Given the description of an element on the screen output the (x, y) to click on. 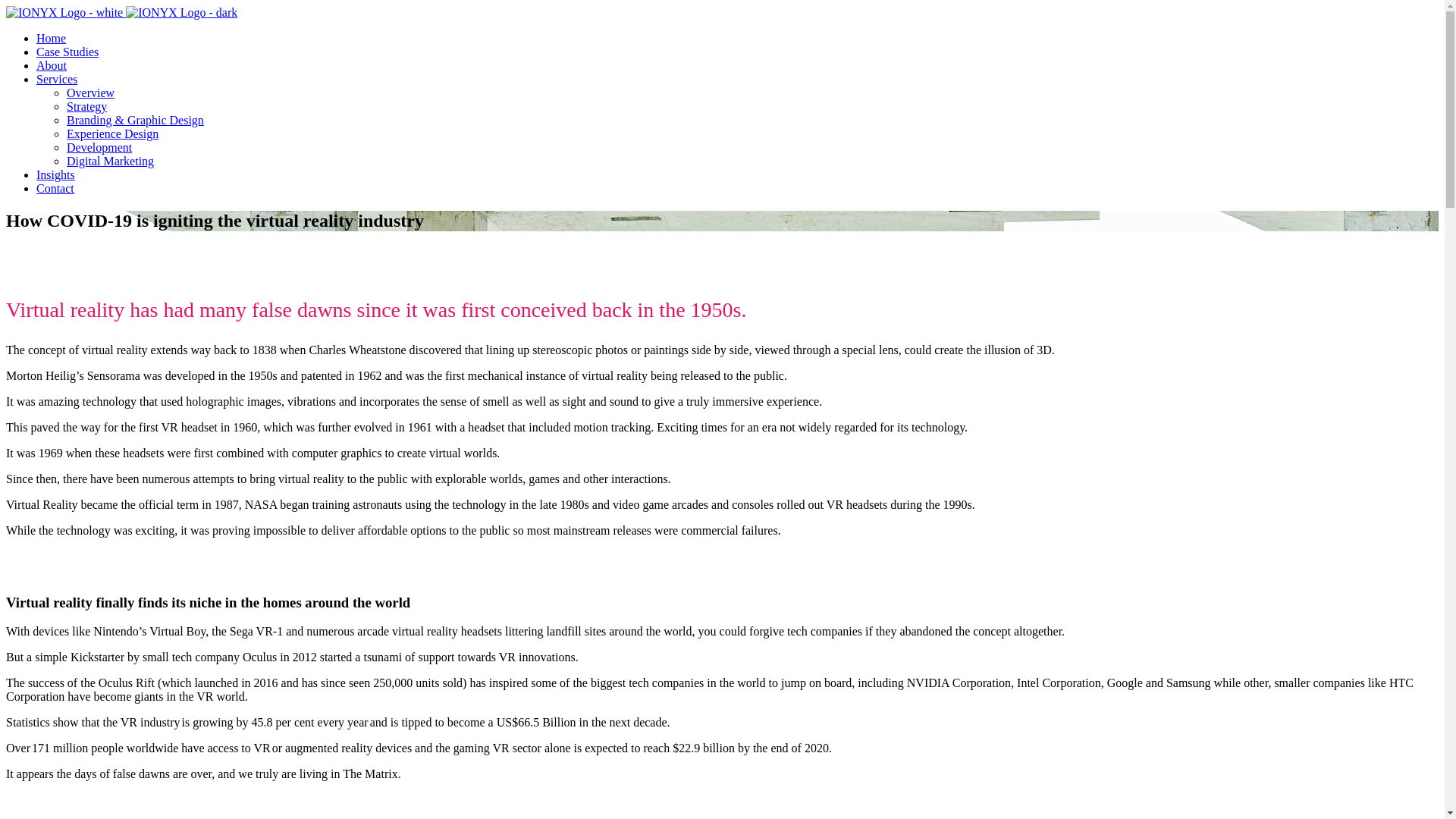
About Element type: text (51, 65)
Development Element type: text (98, 147)
Strategy Element type: text (86, 106)
Contact Element type: text (55, 188)
Branding & Graphic Design Element type: text (134, 119)
Insights Element type: text (55, 174)
Overview Element type: text (90, 92)
Experience Design Element type: text (112, 133)
Home Element type: text (50, 37)
Digital Marketing Element type: text (109, 160)
Services Element type: text (56, 78)
Case Studies Element type: text (67, 51)
